Given the description of an element on the screen output the (x, y) to click on. 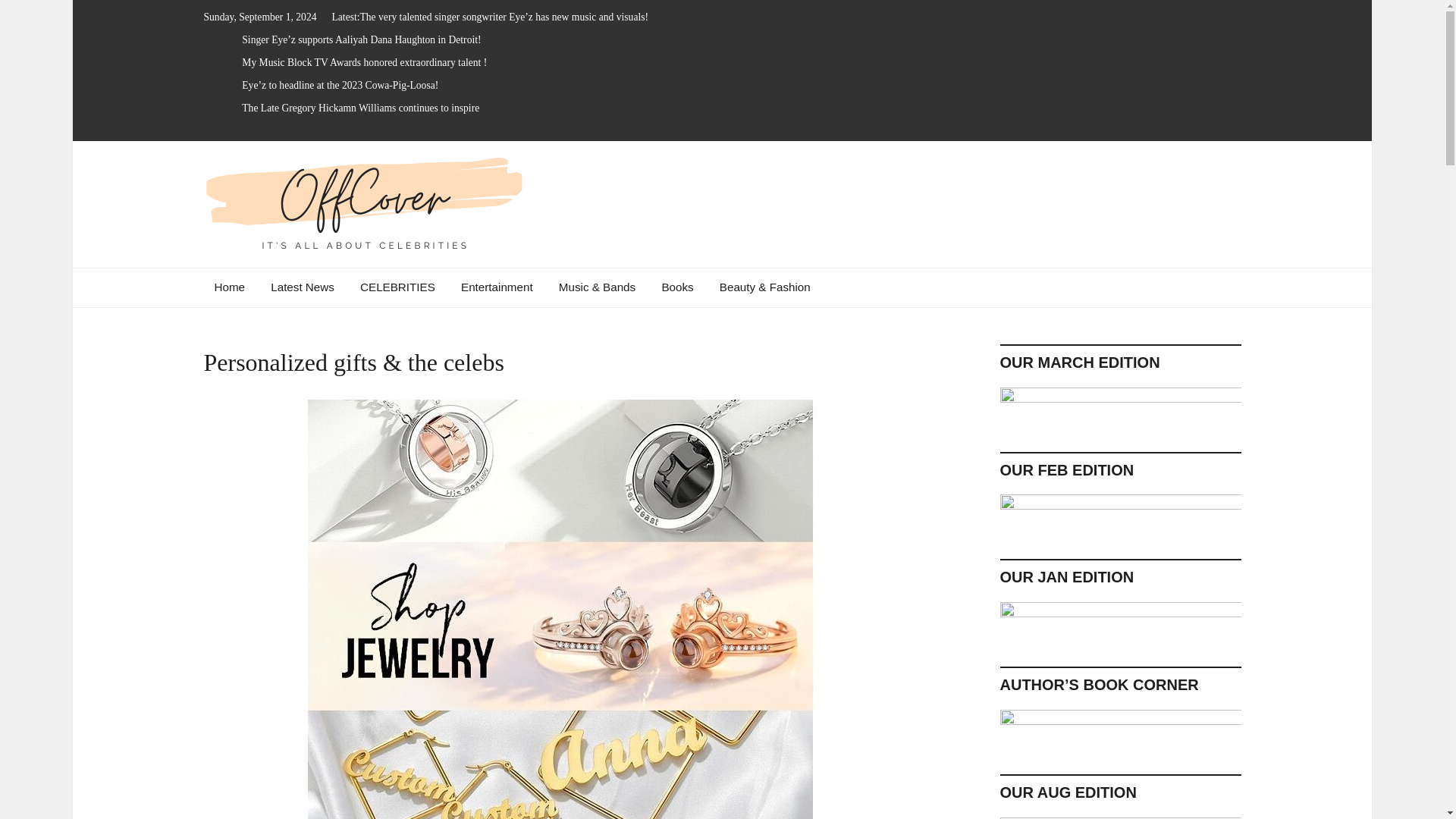
Entertainment (496, 287)
CELEBRITIES (397, 287)
Home (230, 287)
The Late Gregory Hickamn Williams continues to inspire (360, 107)
Books (676, 287)
Latest News (302, 287)
My Music Block TV Awards honored extraordinary talent ! (363, 61)
My Music Block TV Awards honored extraordinary talent ! (363, 61)
Off Cover (286, 273)
The Late Gregory Hickamn Williams continues to inspire (360, 107)
